Given the description of an element on the screen output the (x, y) to click on. 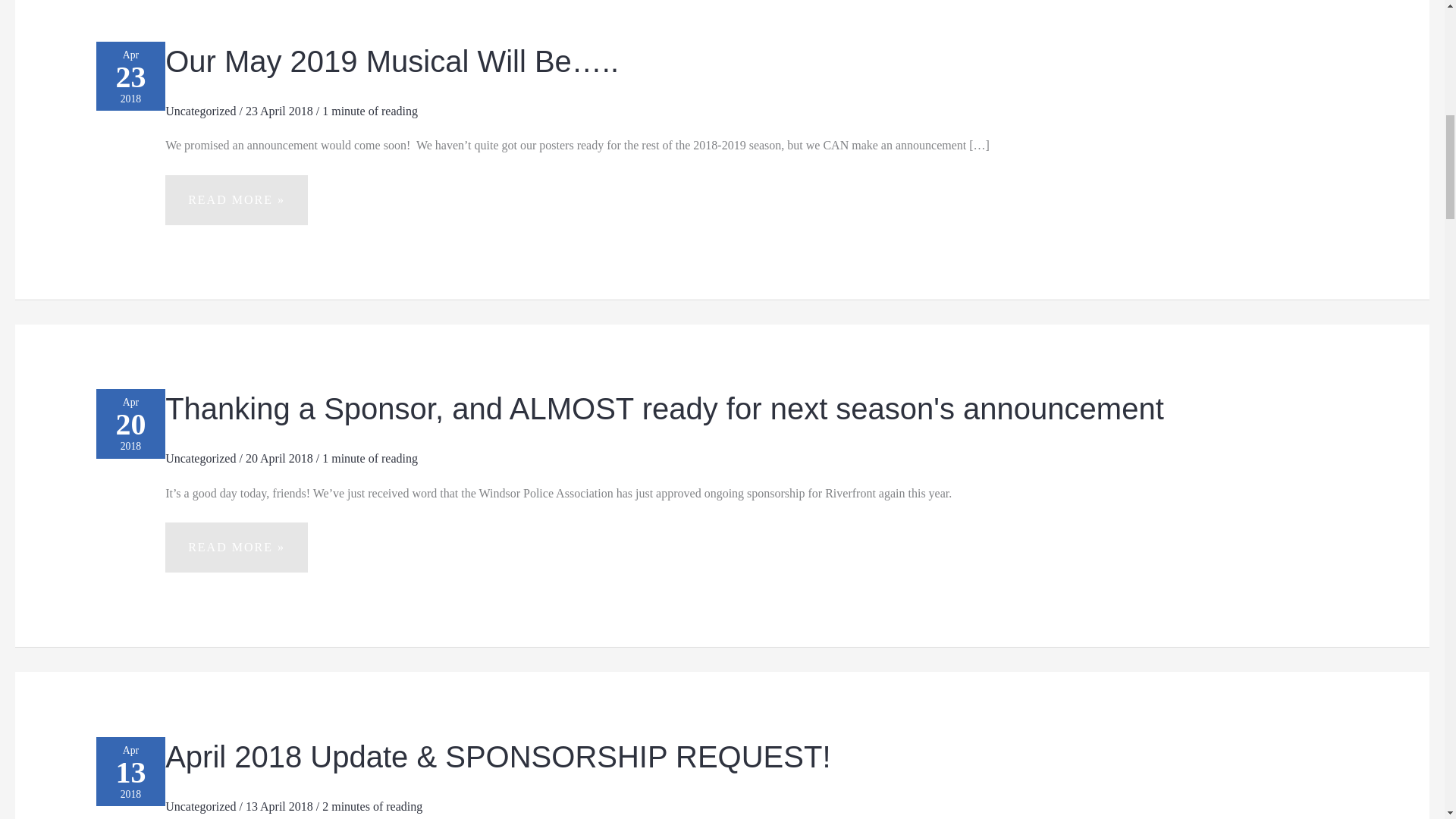
Uncategorized (200, 110)
Uncategorized (200, 806)
Uncategorized (200, 458)
